Given the description of an element on the screen output the (x, y) to click on. 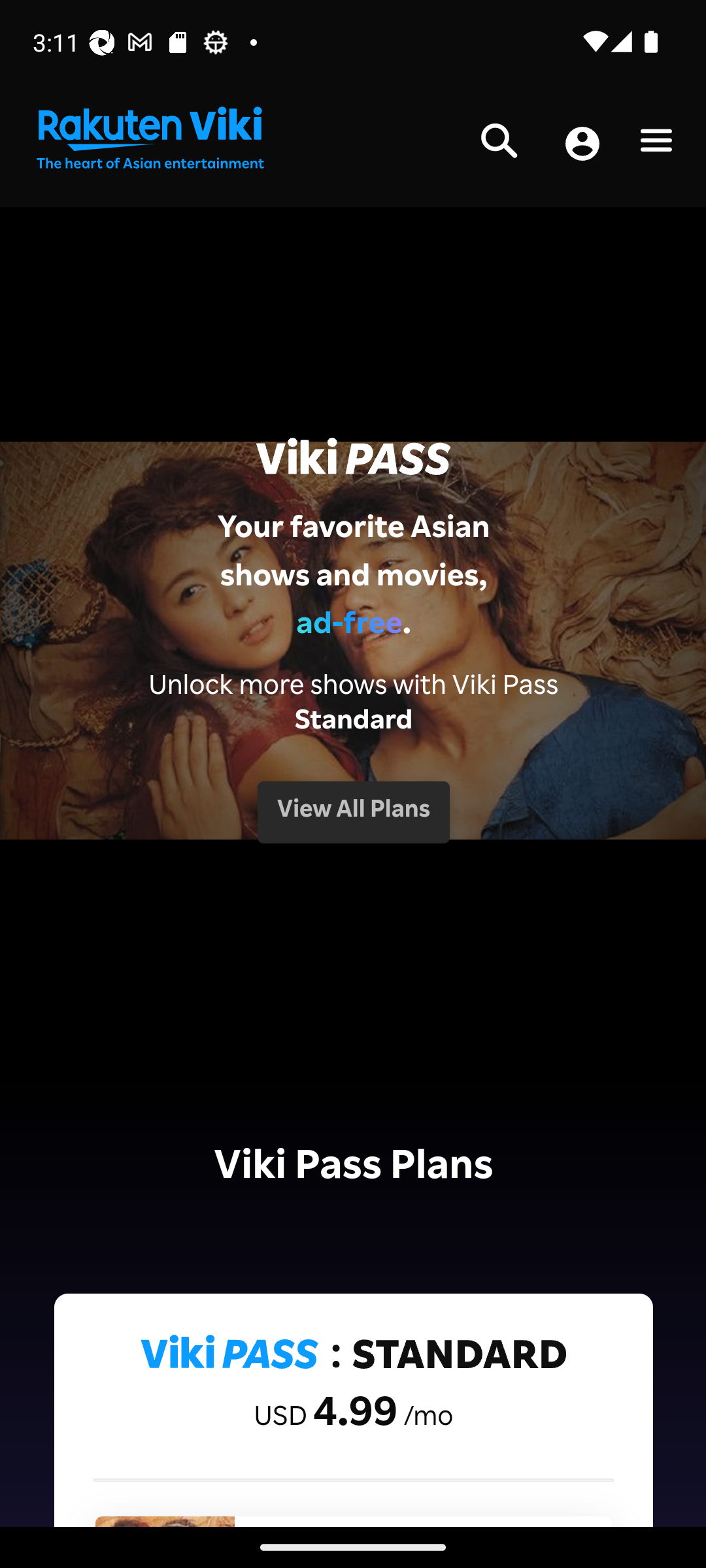
Go to homepage Rakuten Viki (149, 138)
nav.session.login (582, 144)
Settings menu (655, 143)
View All Plans (353, 812)
